Given the description of an element on the screen output the (x, y) to click on. 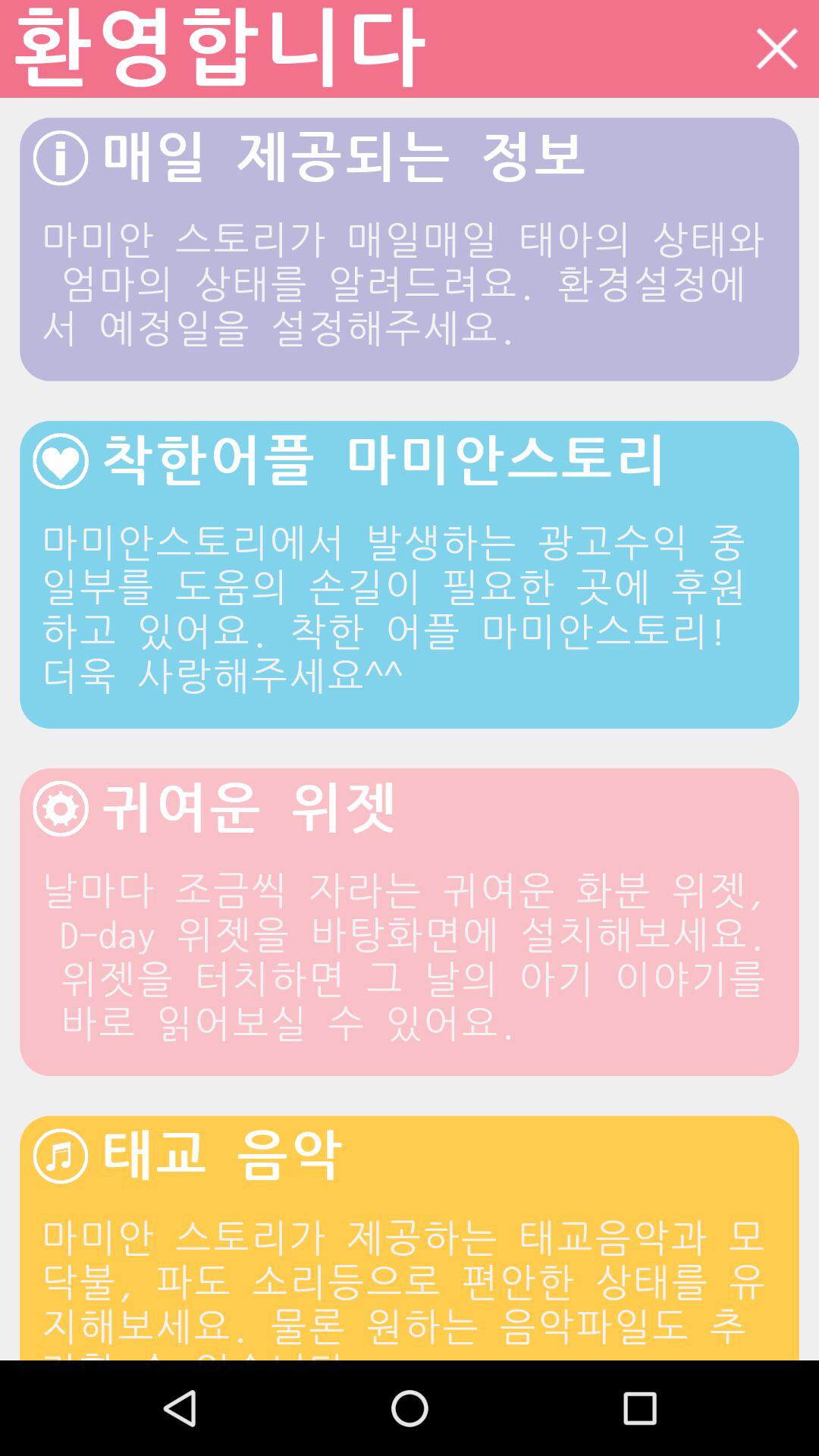
select icon at the top right corner (777, 48)
